Given the description of an element on the screen output the (x, y) to click on. 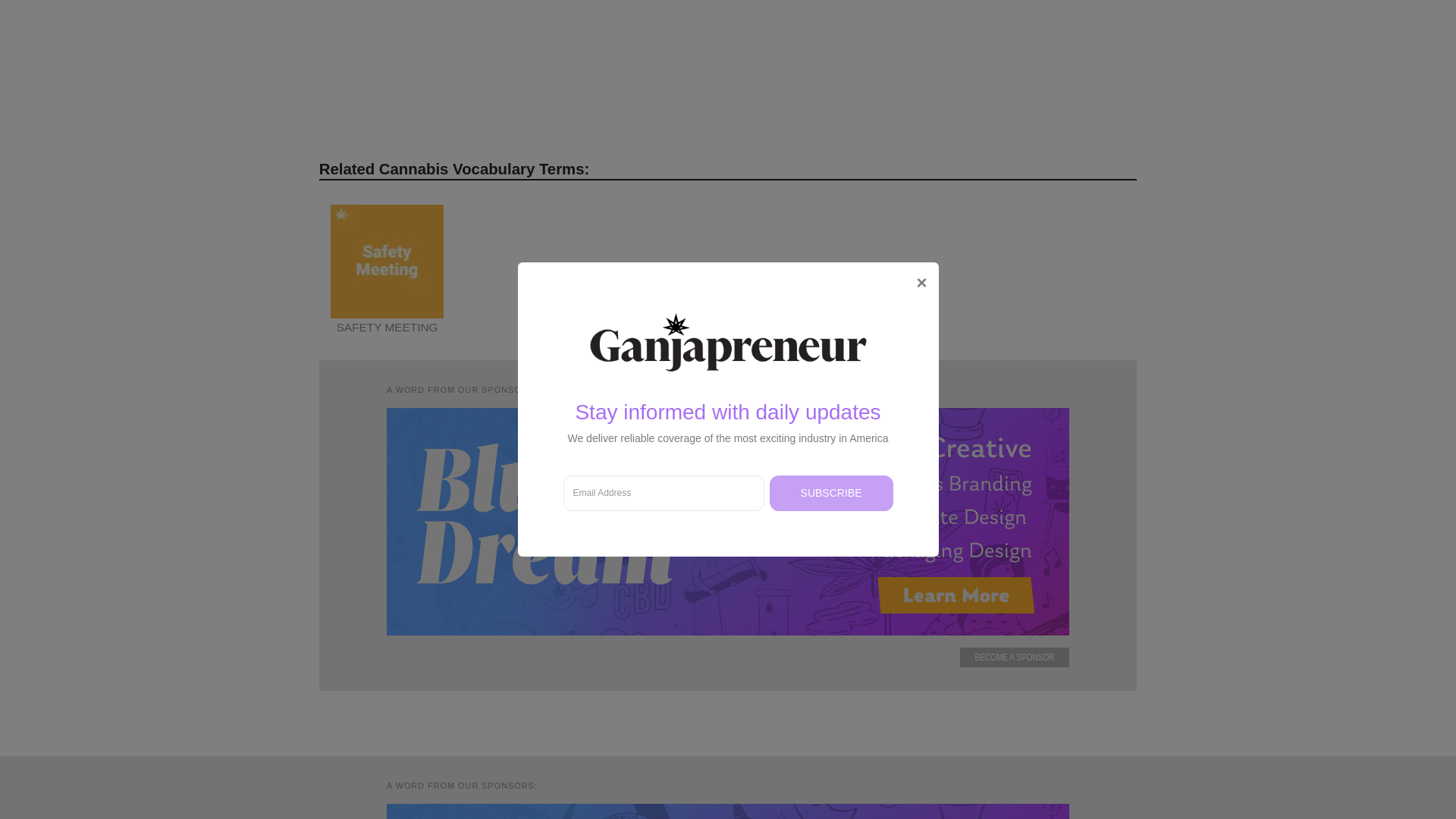
Advertisement (727, 72)
